Given the description of an element on the screen output the (x, y) to click on. 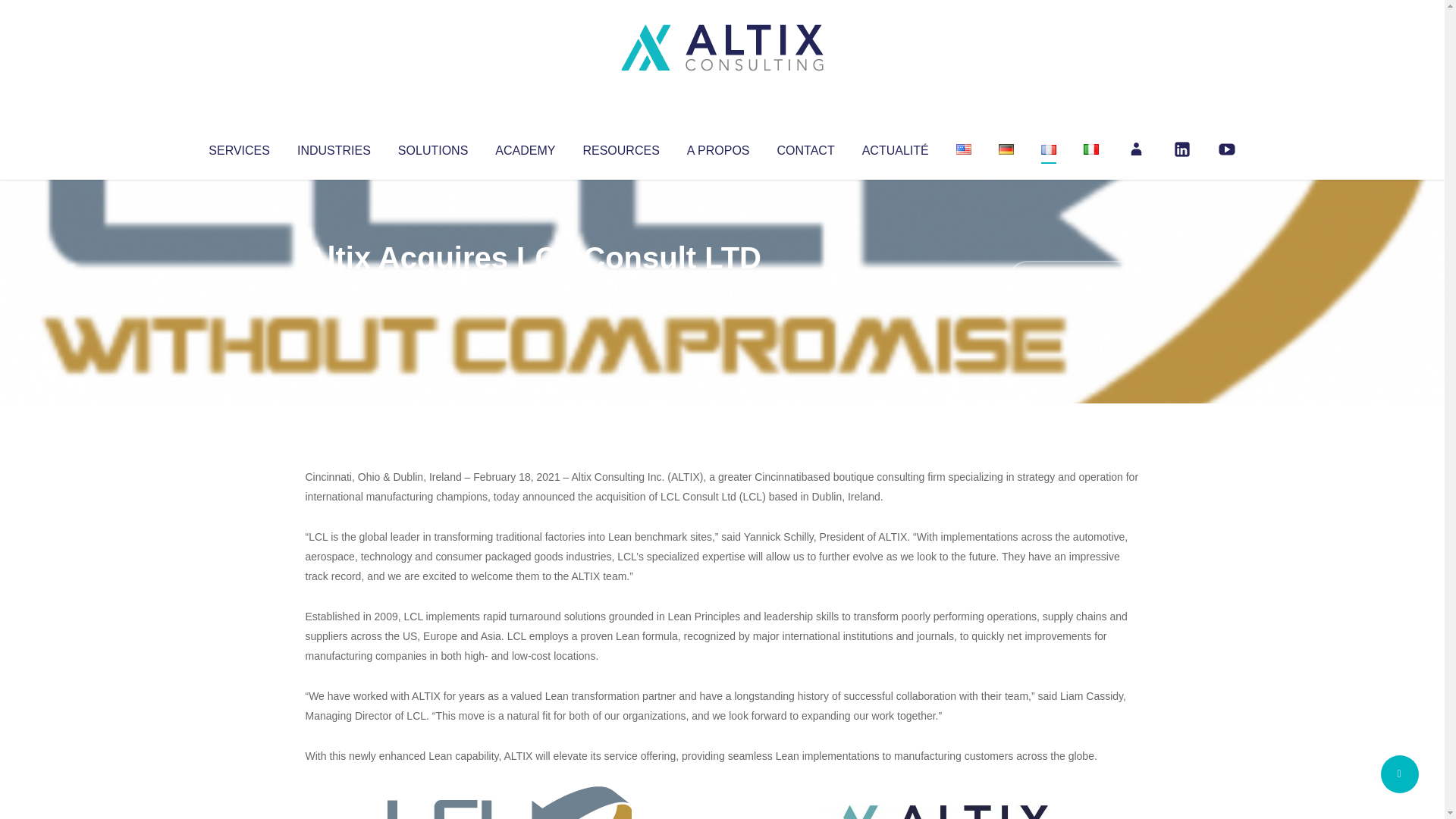
RESOURCES (620, 146)
ACADEMY (524, 146)
SOLUTIONS (432, 146)
A PROPOS (718, 146)
Uncategorized (530, 287)
Articles par Altix (333, 287)
No Comments (1073, 278)
Altix (333, 287)
SERVICES (238, 146)
INDUSTRIES (334, 146)
